Given the description of an element on the screen output the (x, y) to click on. 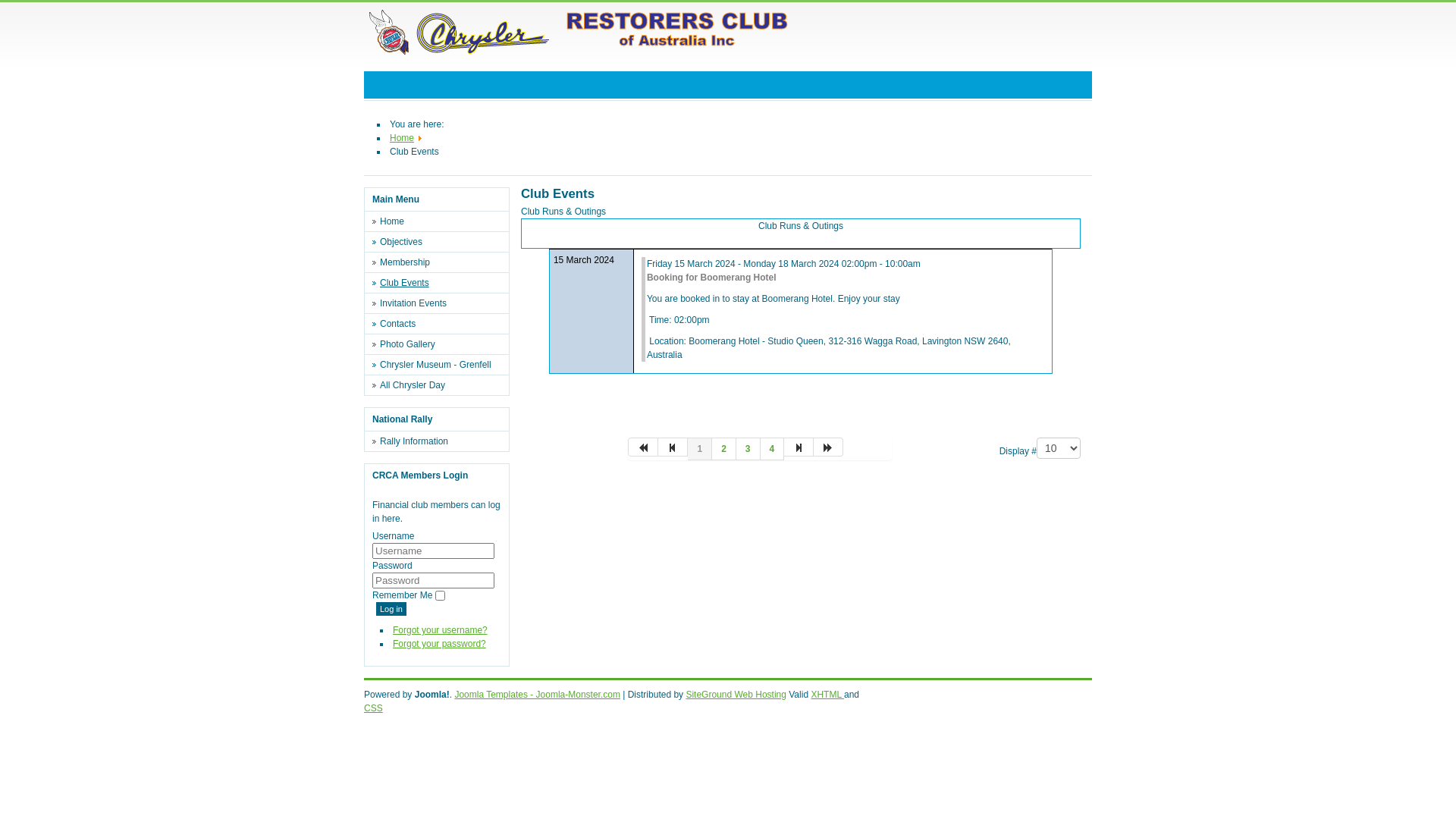
Home Element type: text (401, 137)
Club Events Element type: text (440, 282)
Invitation Events Element type: text (440, 303)
CSS Element type: text (373, 707)
2 Element type: text (724, 448)
Forgot your password? Element type: text (439, 643)
Objectives Element type: text (440, 241)
Rally Information Element type: text (440, 441)
Joomla Templates - Joomla-Monster.com Element type: text (537, 694)
Membership Element type: text (440, 262)
3 Element type: text (748, 448)
Log in Element type: text (391, 608)
Home Element type: text (440, 221)
XHTML Element type: text (827, 694)
All Chrysler Day Element type: text (440, 385)
Chrysler Museum - Grenfell Element type: text (440, 364)
Booking for Boomerang Hotel Element type: text (711, 277)
SiteGround Web Hosting Element type: text (735, 694)
Forgot your username? Element type: text (439, 629)
Contacts Element type: text (440, 323)
4 Element type: text (771, 448)
Photo Gallery Element type: text (440, 344)
